Given the description of an element on the screen output the (x, y) to click on. 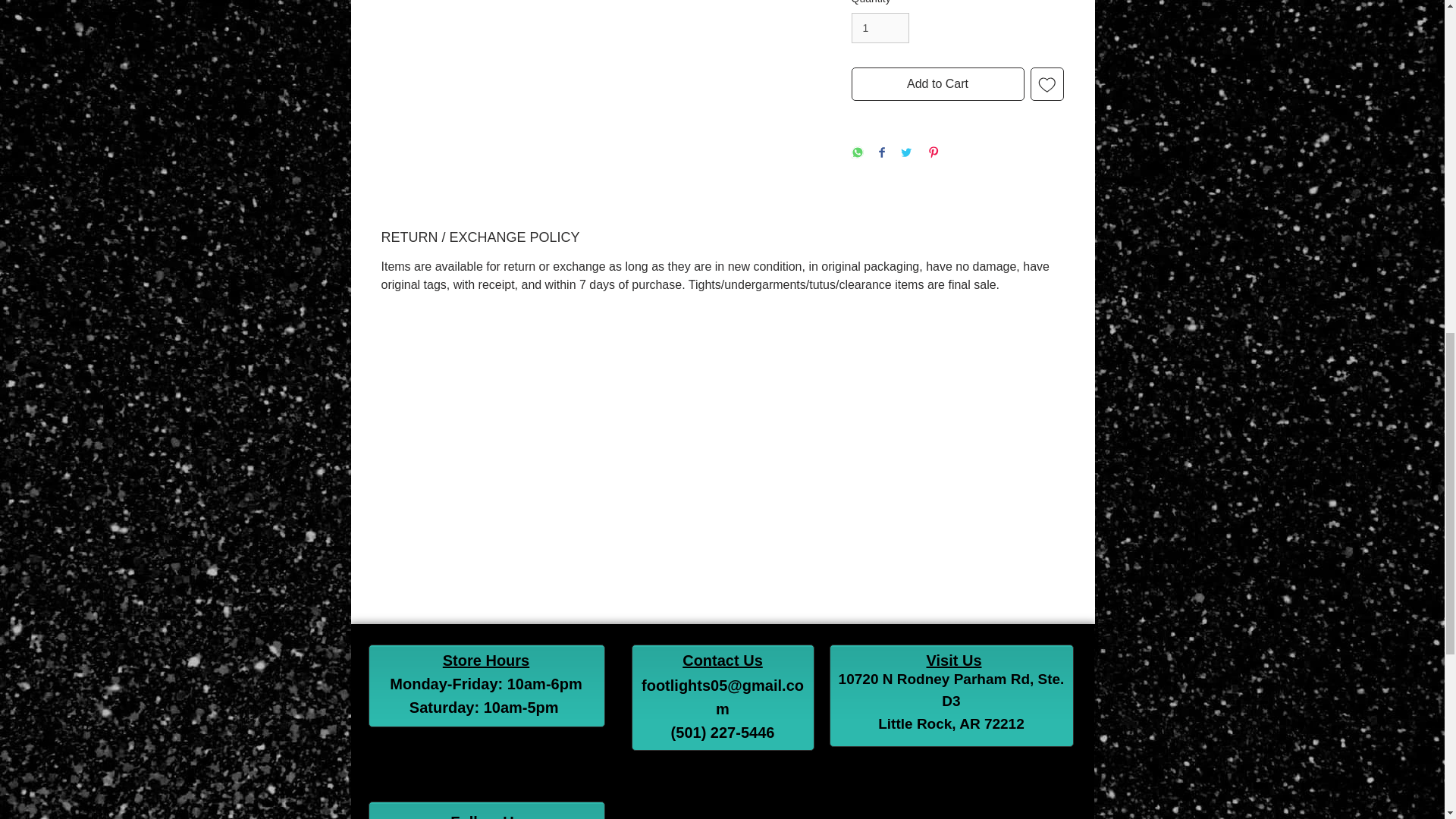
Add to Cart (936, 83)
1 (879, 28)
